Given the description of an element on the screen output the (x, y) to click on. 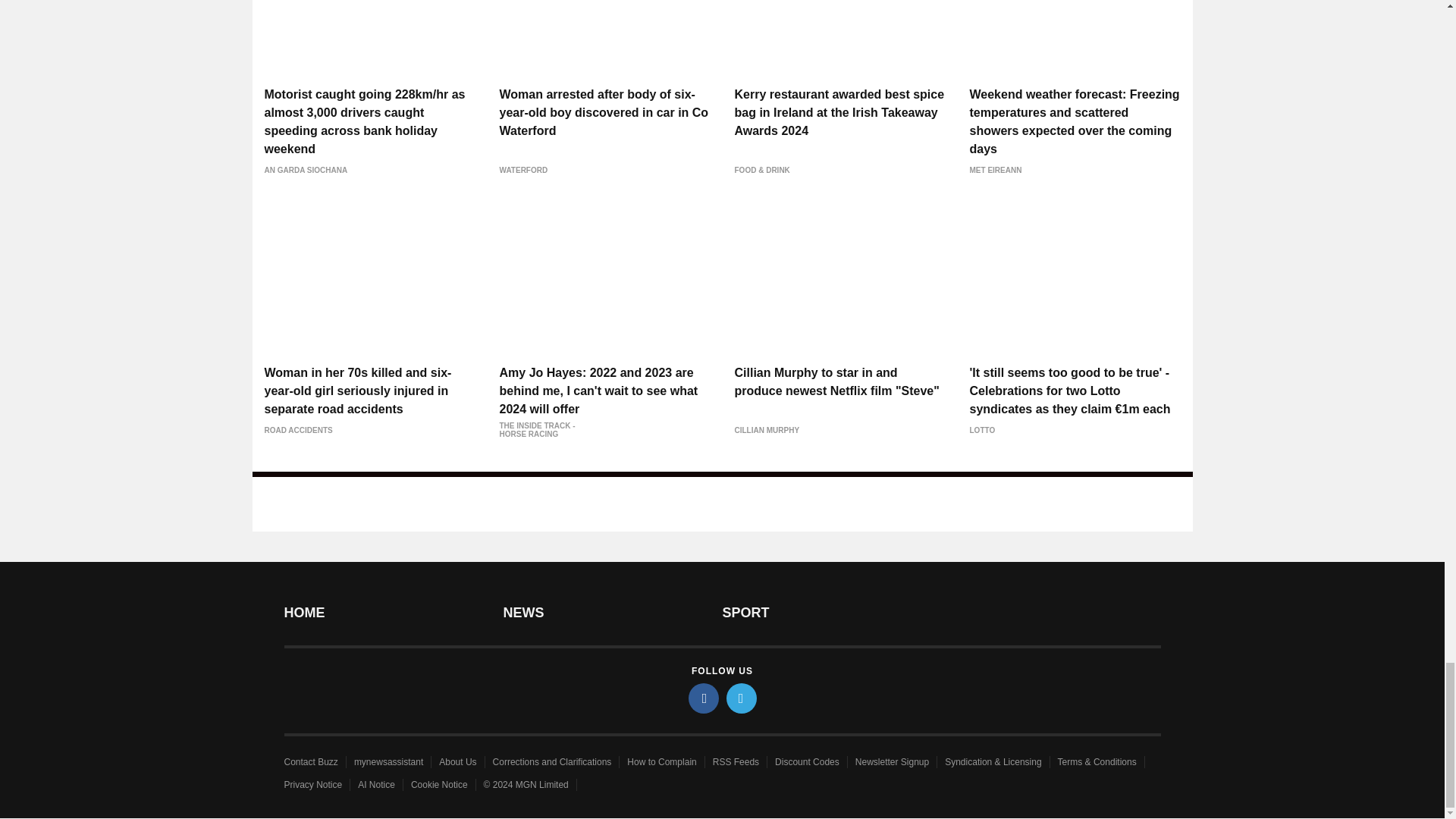
twitter (741, 698)
facebook (703, 698)
